Given the description of an element on the screen output the (x, y) to click on. 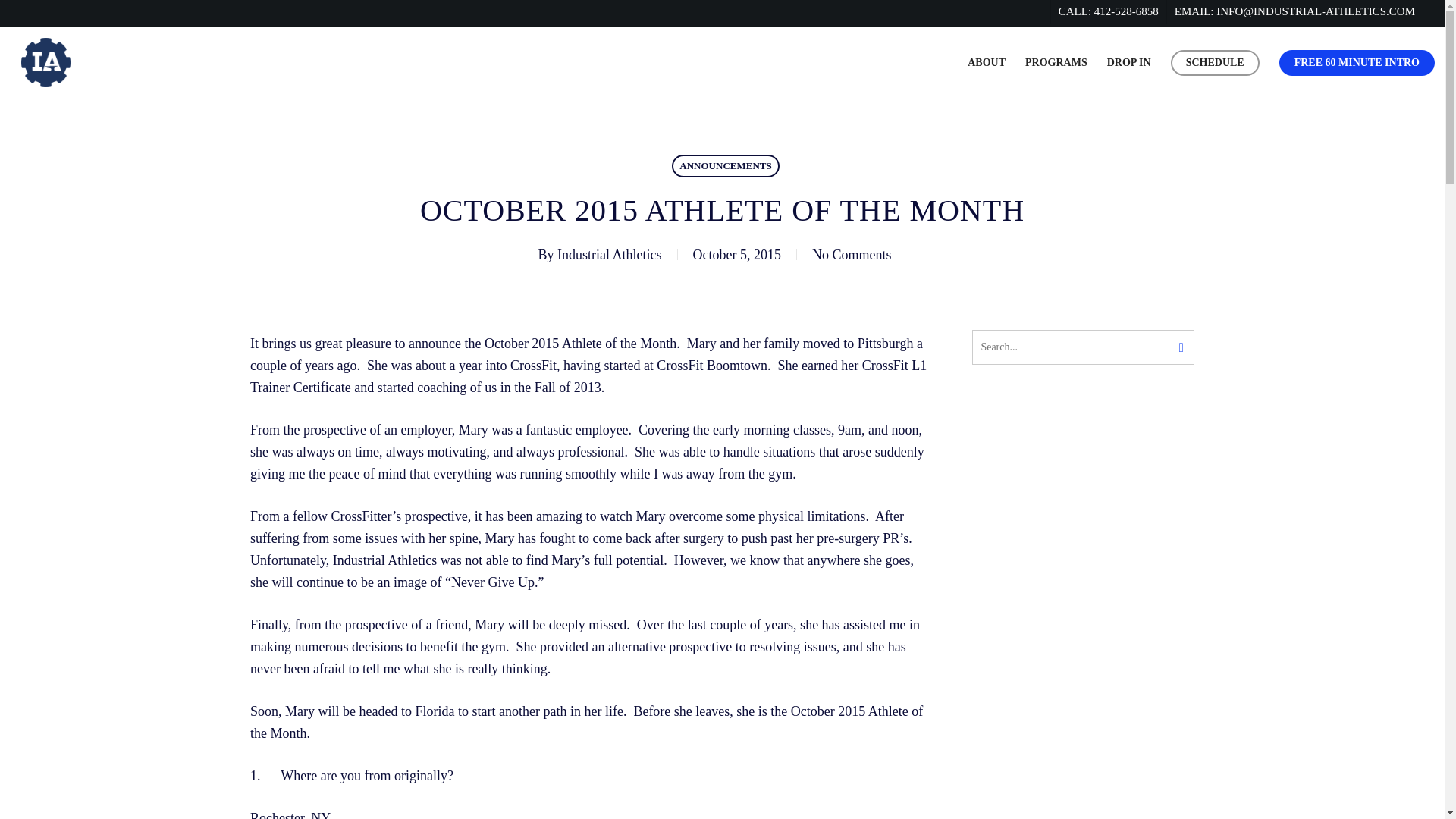
ANNOUNCEMENTS (724, 165)
PROGRAMS (1056, 62)
CALL: 412-528-6858 (1107, 11)
Posts by Industrial Athletics (609, 254)
Search for: (1082, 347)
FREE 60 MINUTE INTRO (1356, 62)
No Comments (851, 254)
ABOUT (987, 62)
SCHEDULE (1214, 62)
Industrial Athletics (609, 254)
